Given the description of an element on the screen output the (x, y) to click on. 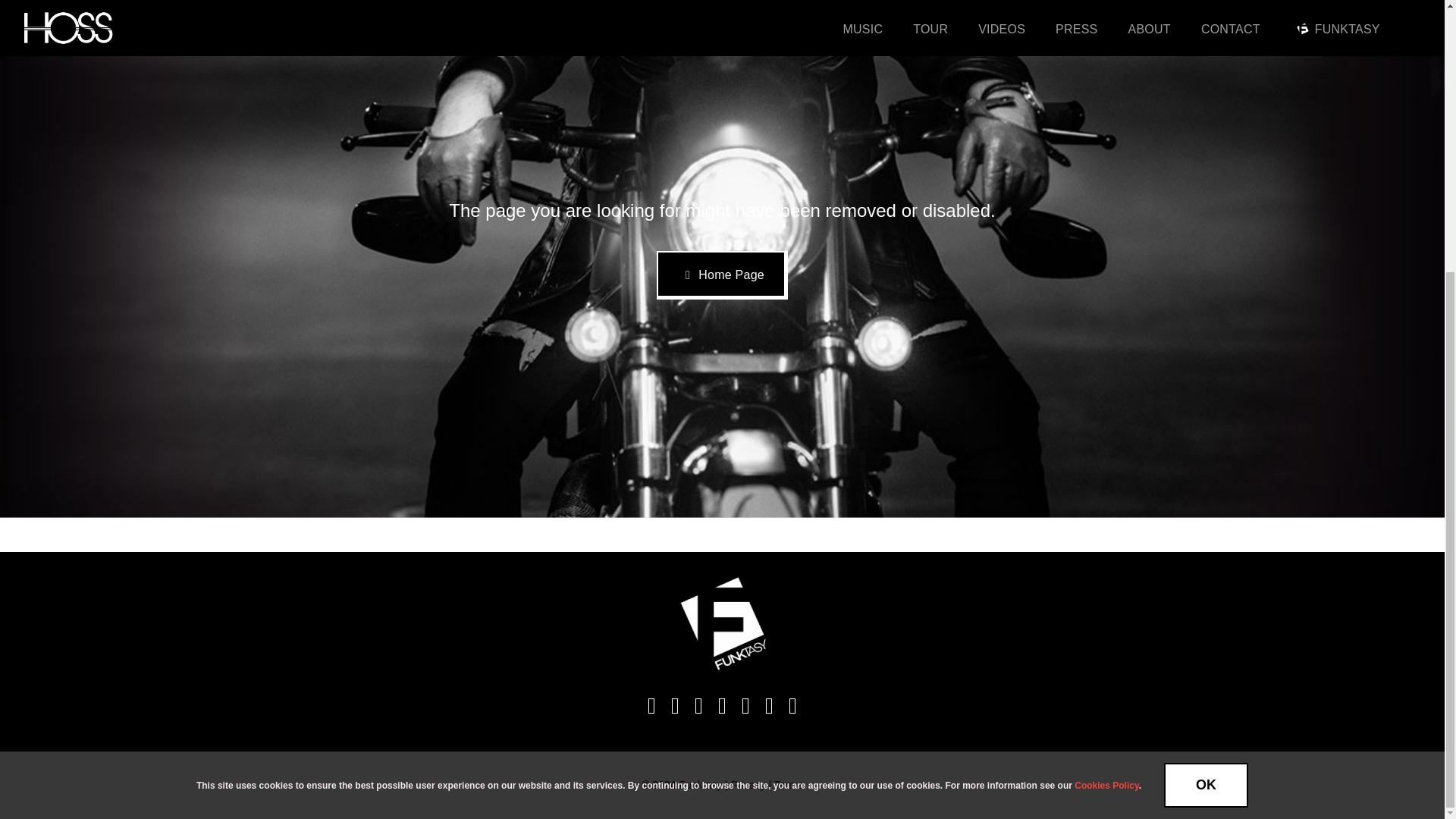
Terms (788, 784)
Cookies Policy (1106, 385)
Home Page (721, 274)
Funktasy (699, 784)
Privacy (747, 784)
